Given the description of an element on the screen output the (x, y) to click on. 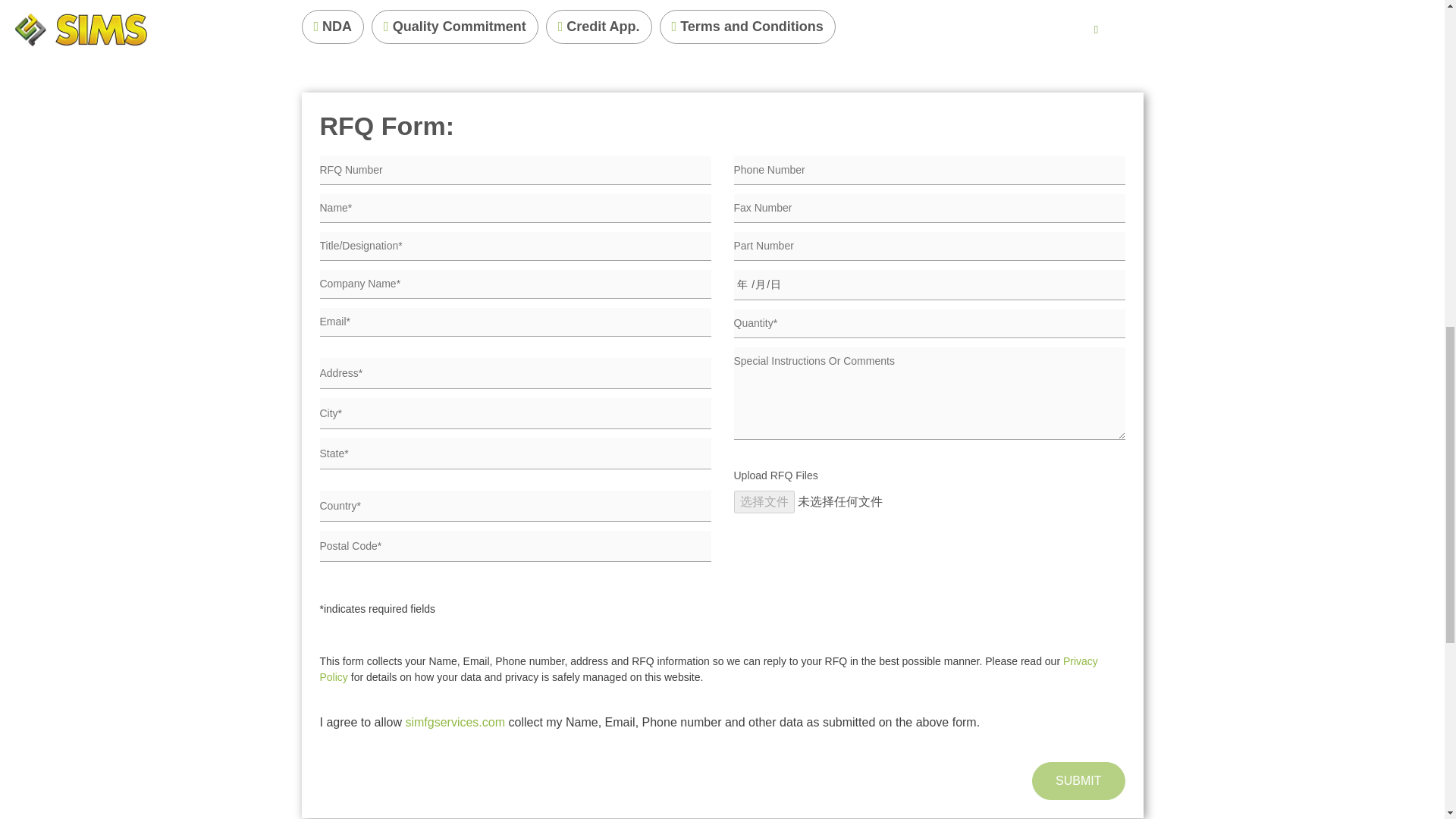
Quality Commitment (454, 26)
Submit (1078, 781)
NDA (333, 26)
Submit (1078, 781)
simfgservices.com (454, 721)
Credit App. (599, 26)
Privacy Policy (708, 669)
Terms and Conditions (747, 26)
